Given the description of an element on the screen output the (x, y) to click on. 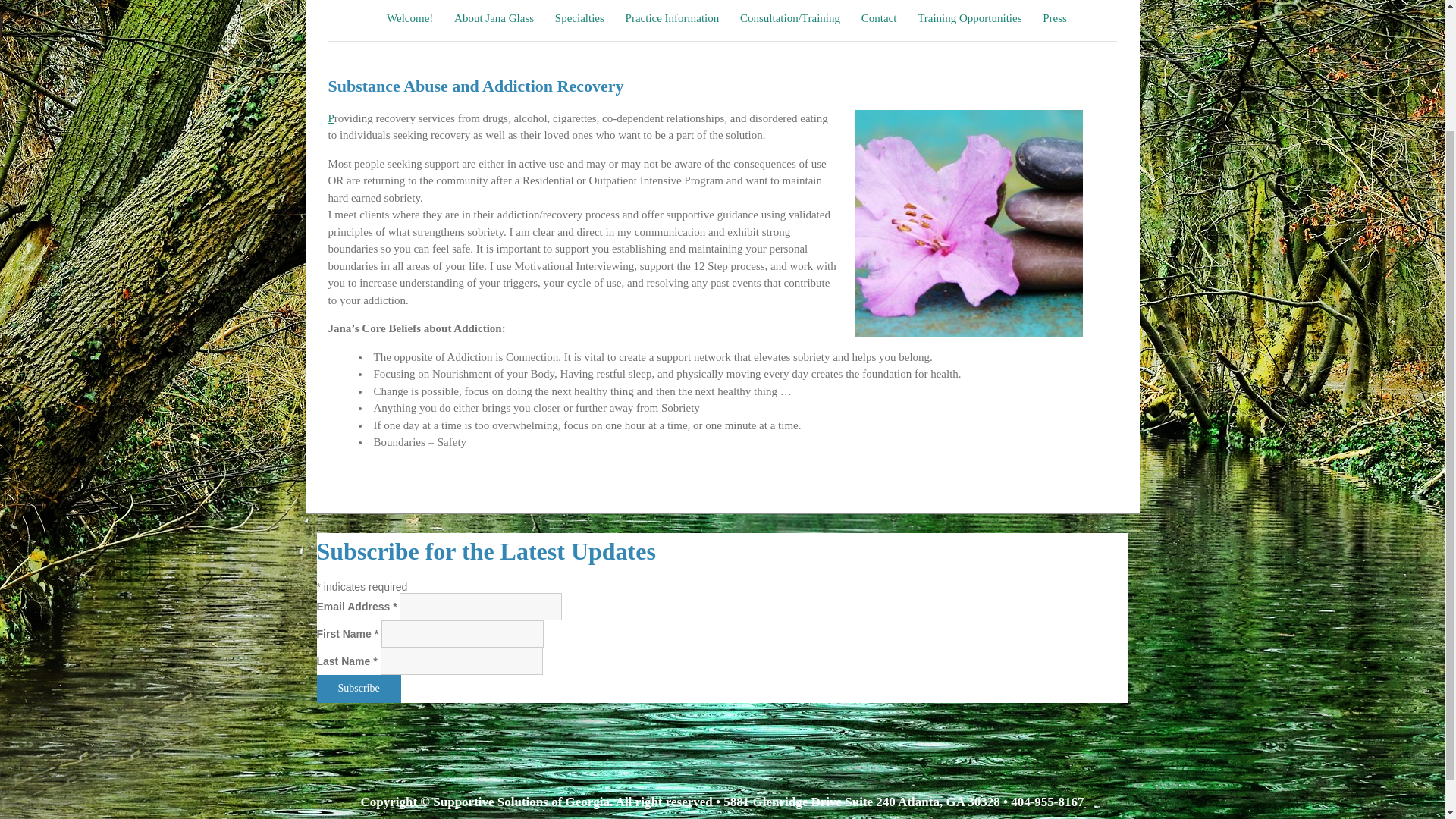
Subscribe (359, 688)
